Given the description of an element on the screen output the (x, y) to click on. 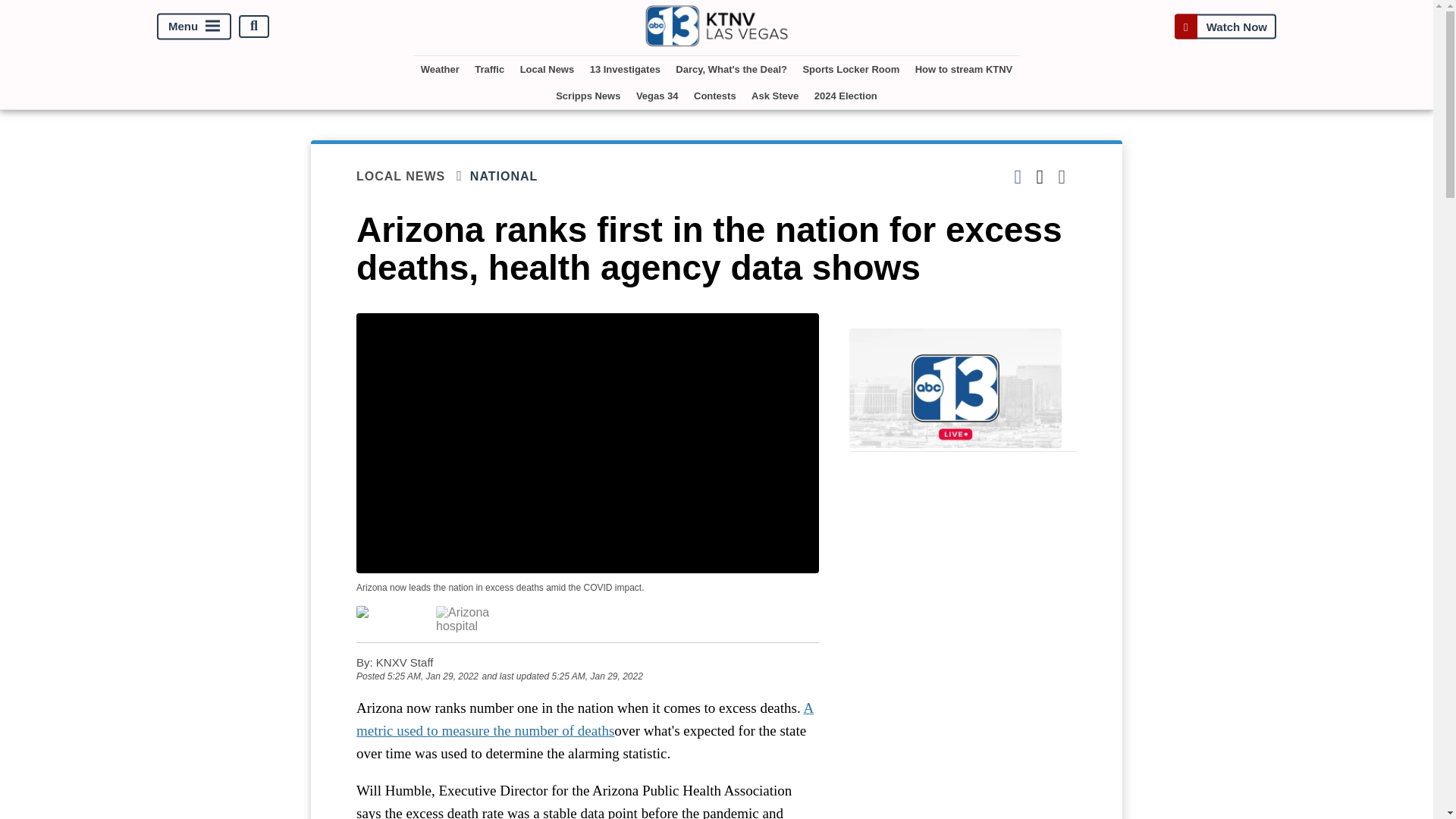
Watch Now (1224, 25)
Menu (194, 26)
